Given the description of an element on the screen output the (x, y) to click on. 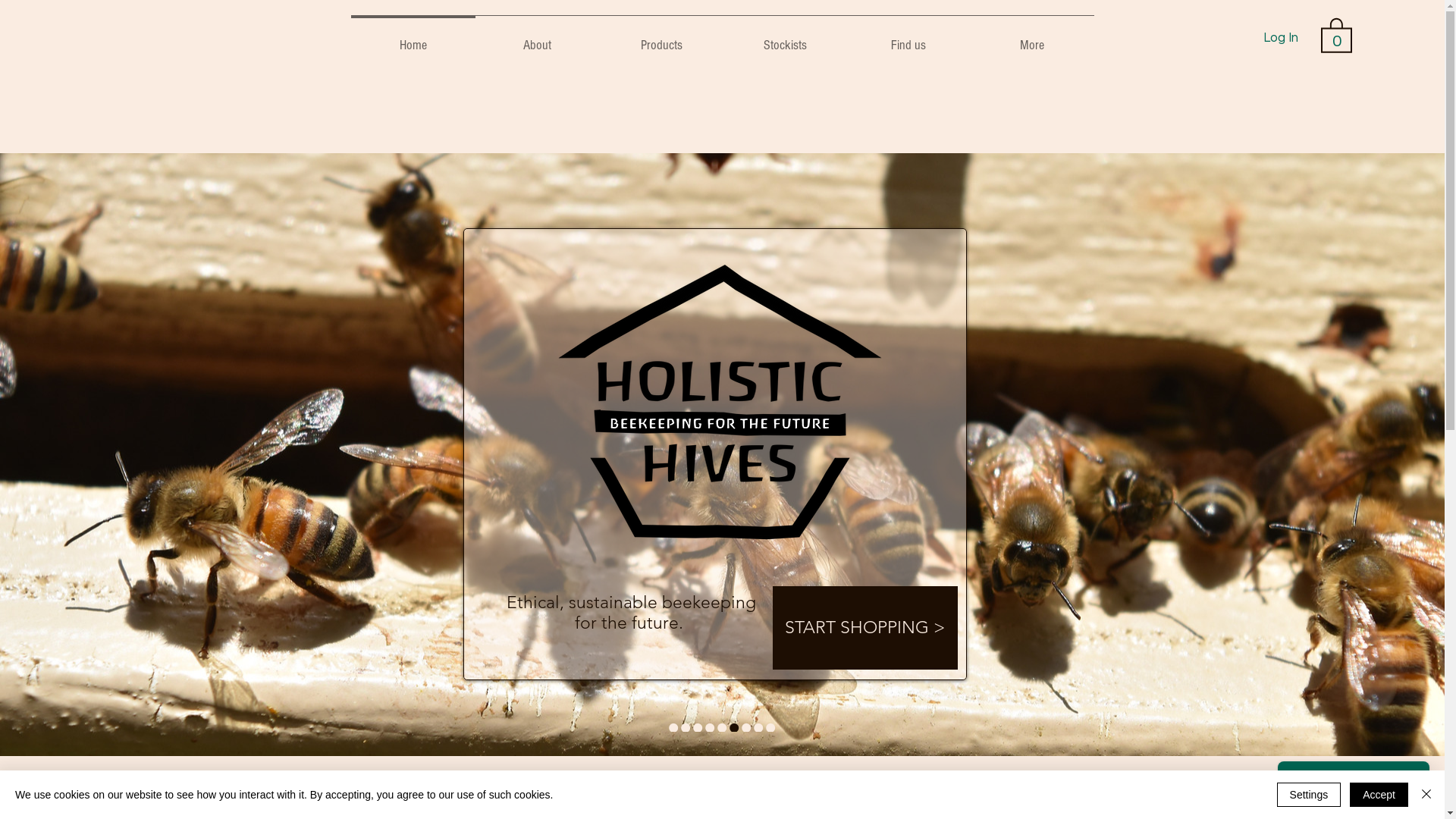
Log In Element type: text (1280, 38)
About Element type: text (536, 38)
Accept Element type: text (1378, 794)
Home Element type: text (412, 38)
Stockists Element type: text (785, 38)
Find us Element type: text (907, 38)
START SHOPPING > Element type: text (864, 627)
Settings Element type: text (1309, 794)
Products Element type: text (660, 38)
0 Element type: text (1336, 34)
